Given the description of an element on the screen output the (x, y) to click on. 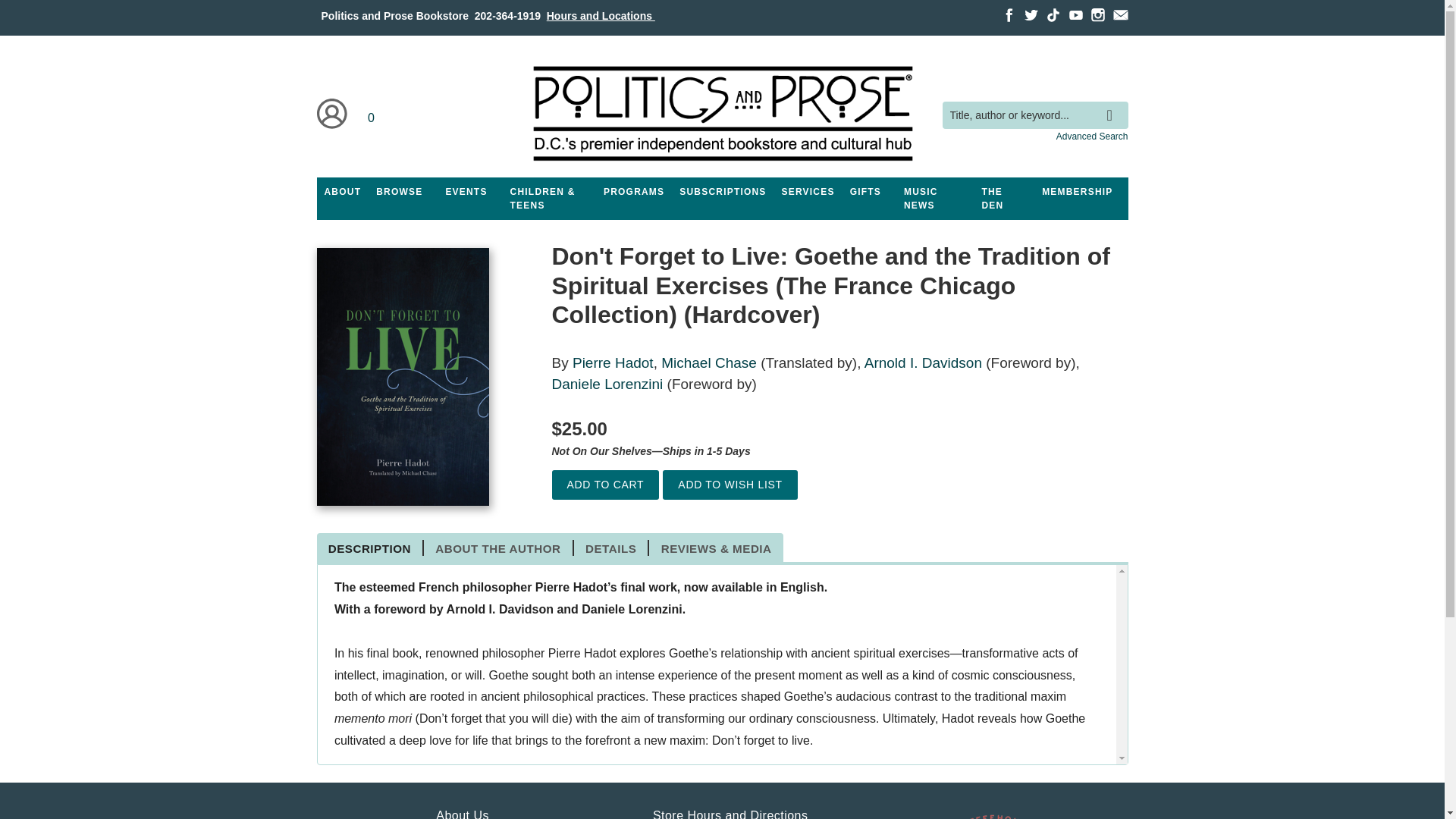
Browse our shelves (398, 191)
See our event calendar (465, 191)
SUBSCRIPTIONS (722, 191)
Hours and Locations  (601, 15)
BROWSE (398, 191)
EVENTS (465, 191)
SERVICES (808, 191)
Add to Wish List (729, 484)
Advanced Search (1092, 136)
